Given the description of an element on the screen output the (x, y) to click on. 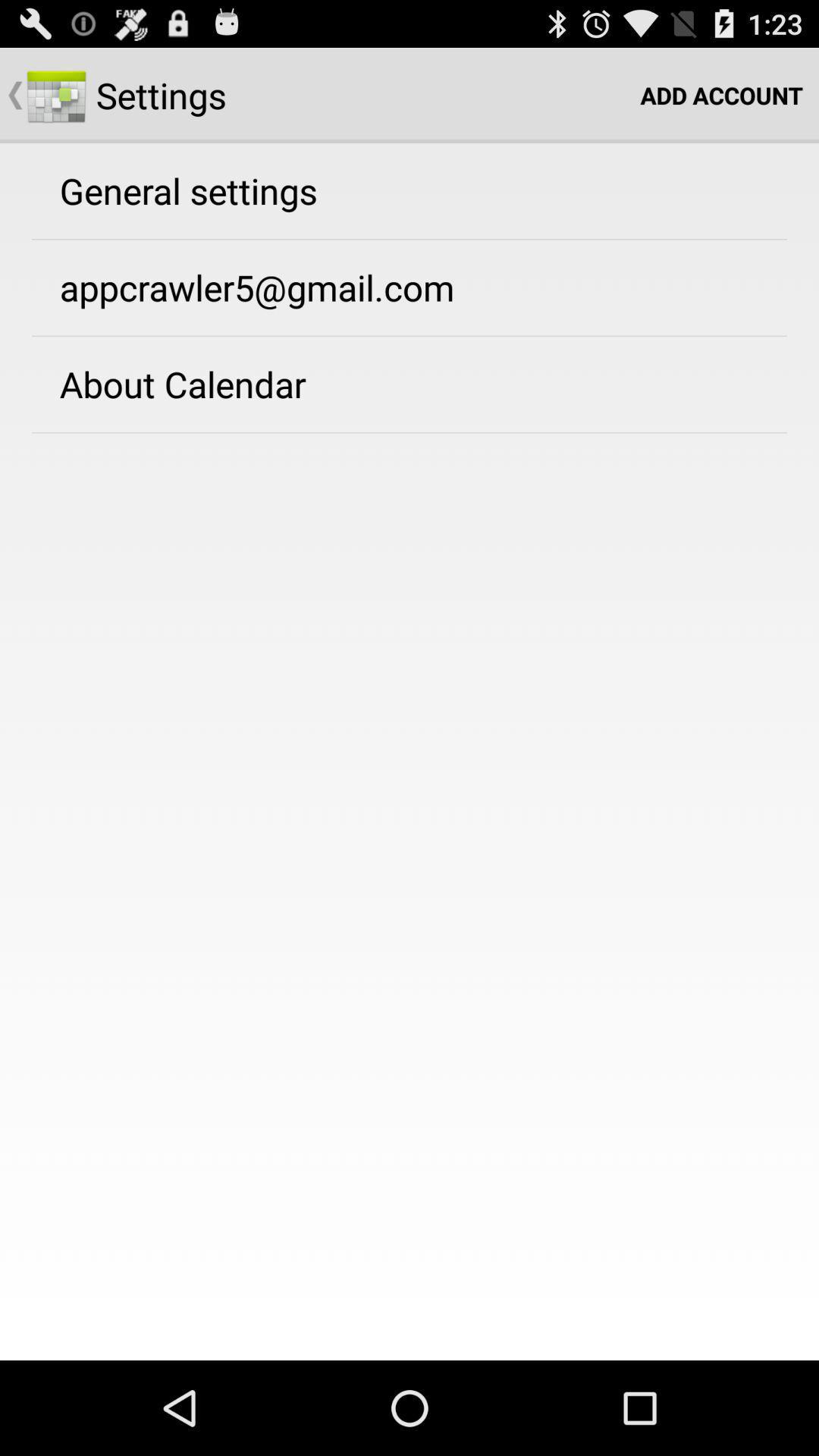
launch the add account (721, 95)
